Given the description of an element on the screen output the (x, y) to click on. 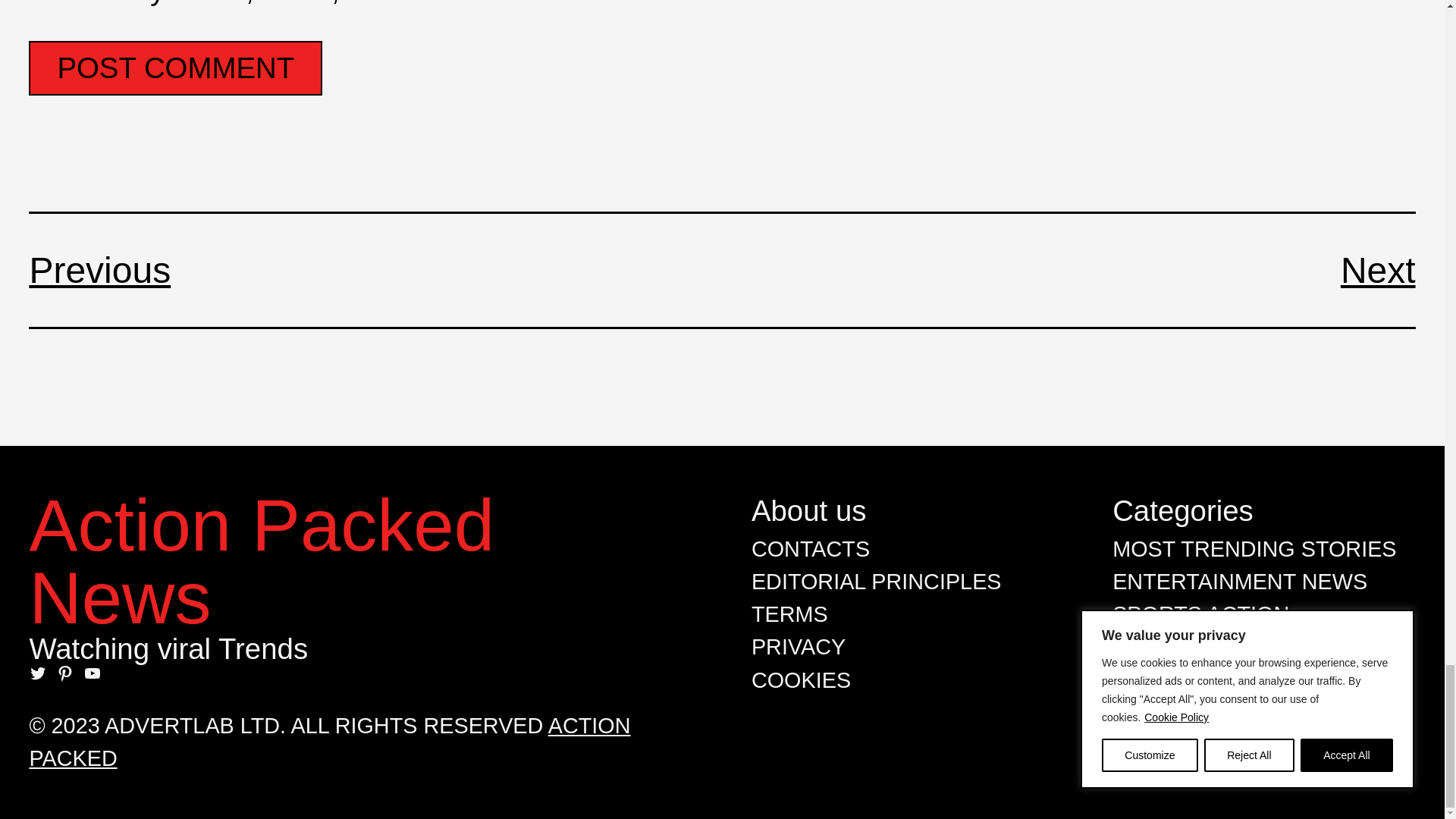
yes (37, 4)
Post Comment (175, 67)
Post Comment (175, 67)
